Given the description of an element on the screen output the (x, y) to click on. 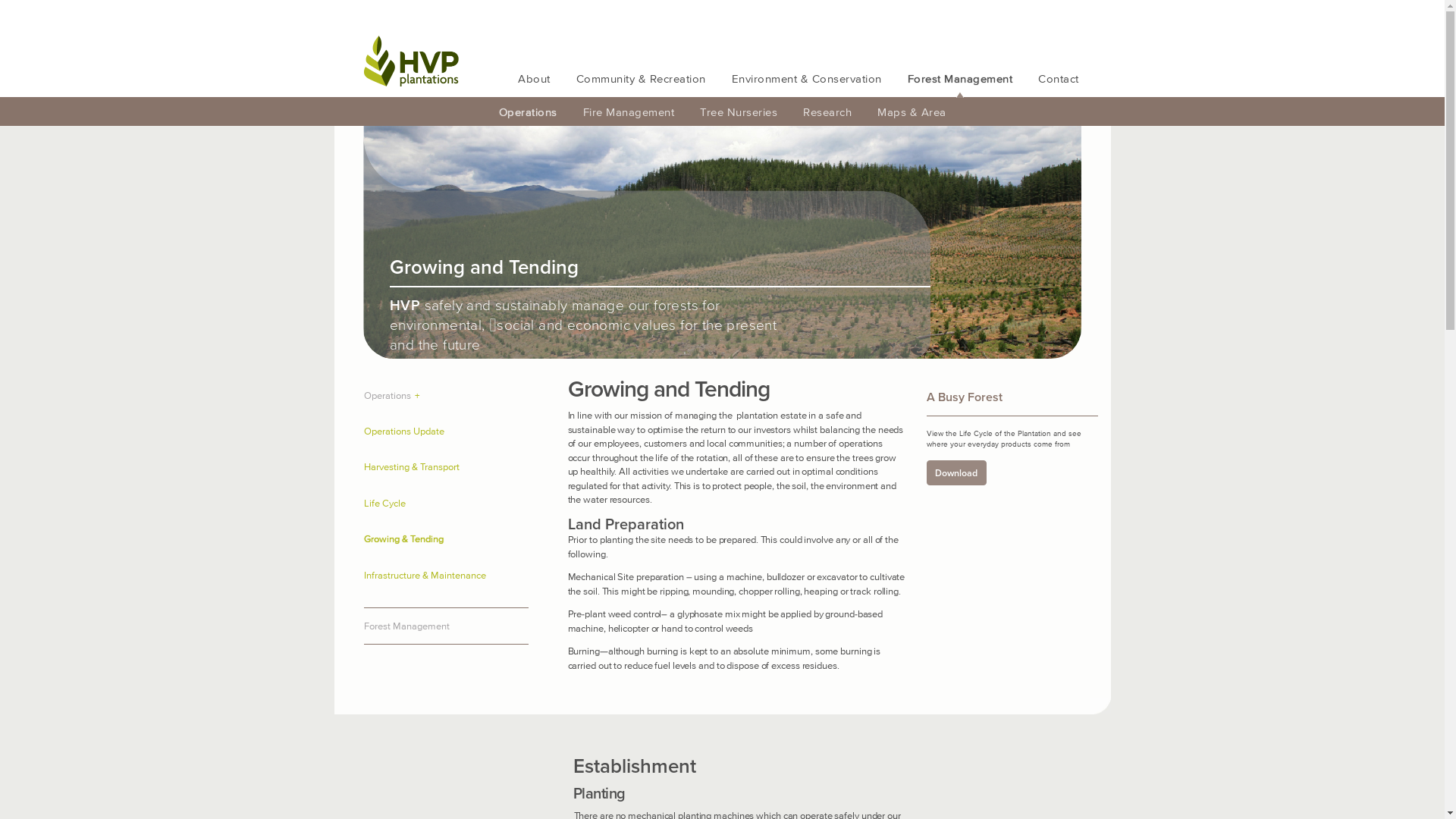
Forest Management Element type: text (960, 78)
Tree Nurseries Element type: text (738, 112)
Operations Element type: text (526, 112)
Forest Management Element type: text (446, 626)
Harvesting & Transport Element type: text (446, 466)
Operations Element type: text (446, 395)
Download Element type: text (956, 472)
Fire Management Element type: text (628, 112)
Environment & Conservation Element type: text (806, 78)
Infrastructure & Maintenance Element type: text (446, 575)
Life Cycle Element type: text (446, 503)
Operations Update Element type: text (446, 431)
Community & Recreation Element type: text (640, 78)
Maps & Area Element type: text (911, 112)
Research Element type: text (826, 112)
Contact Element type: text (1058, 78)
About Element type: text (534, 78)
Growing & Tending Element type: text (446, 538)
